Given the description of an element on the screen output the (x, y) to click on. 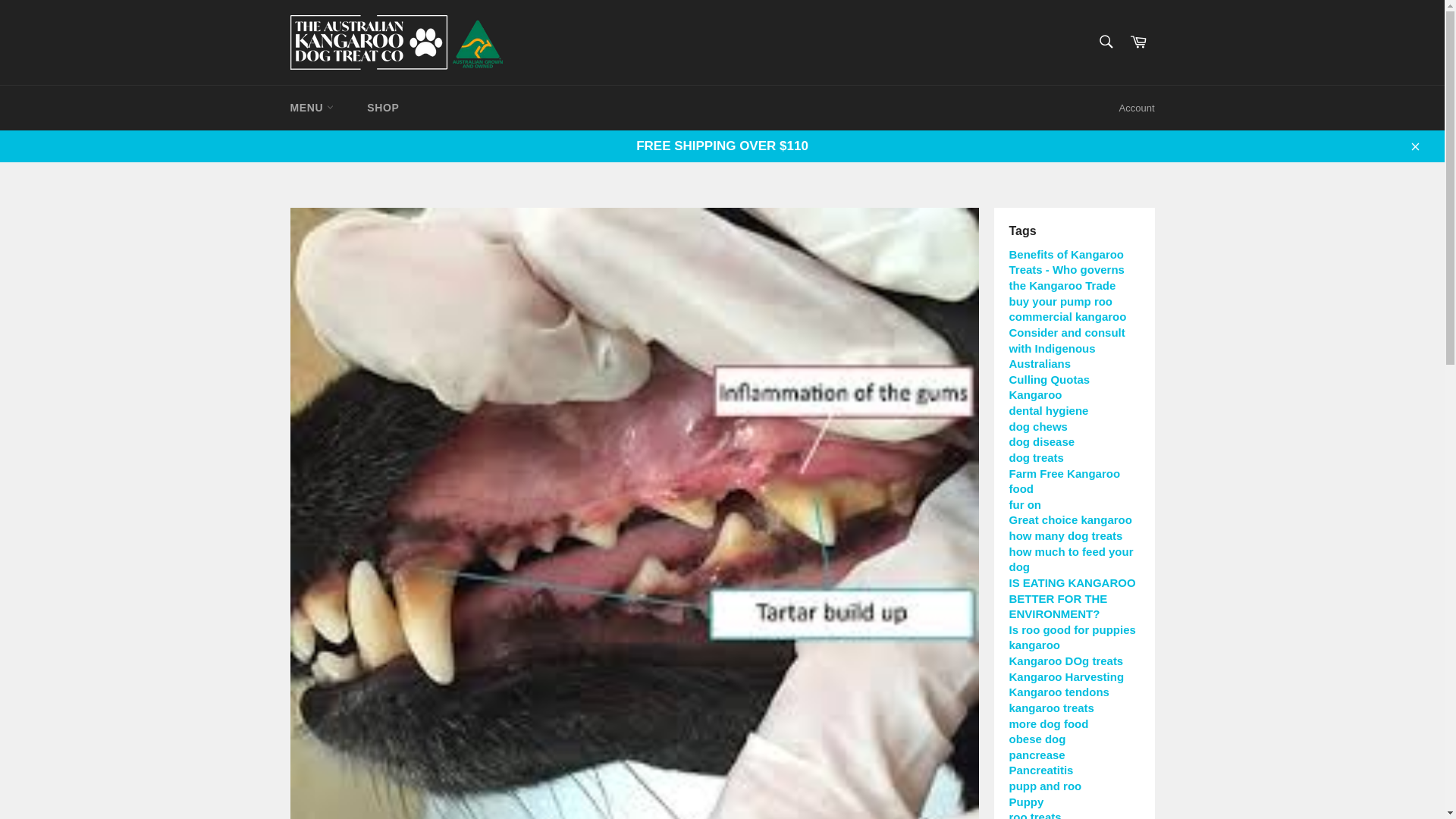
Cart (1138, 42)
Show articles tagged commercial kangaroo (1067, 316)
Show articles tagged how much to feed your dog (1070, 559)
Show articles tagged Culling Quotas Kangaroo (1049, 387)
buy your pump roo (1060, 300)
Culling Quotas Kangaroo (1049, 387)
Show articles tagged how many dog treats (1065, 535)
Consider and consult with Indigenous Australians (1066, 347)
Account (1136, 108)
MENU (311, 107)
Show articles tagged dental hygiene (1048, 410)
Show articles tagged dog chews (1038, 426)
